Given the description of an element on the screen output the (x, y) to click on. 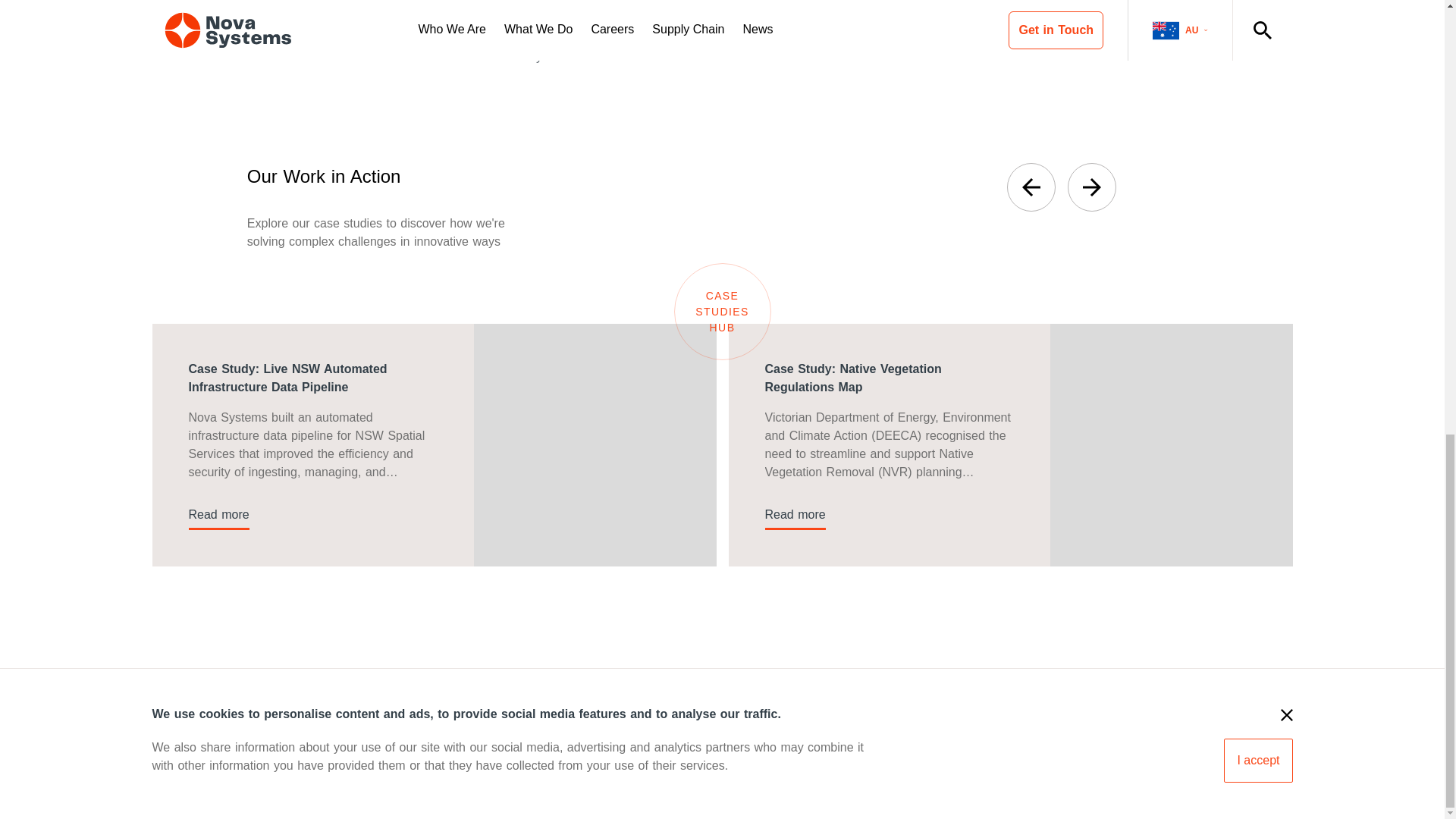
Supply Chain (424, 793)
News (495, 793)
What We Do (274, 793)
Who We Are (186, 793)
CASE STUDIES HUB (721, 311)
Careers (349, 793)
Read more (217, 514)
Read more (794, 514)
